Given the description of an element on the screen output the (x, y) to click on. 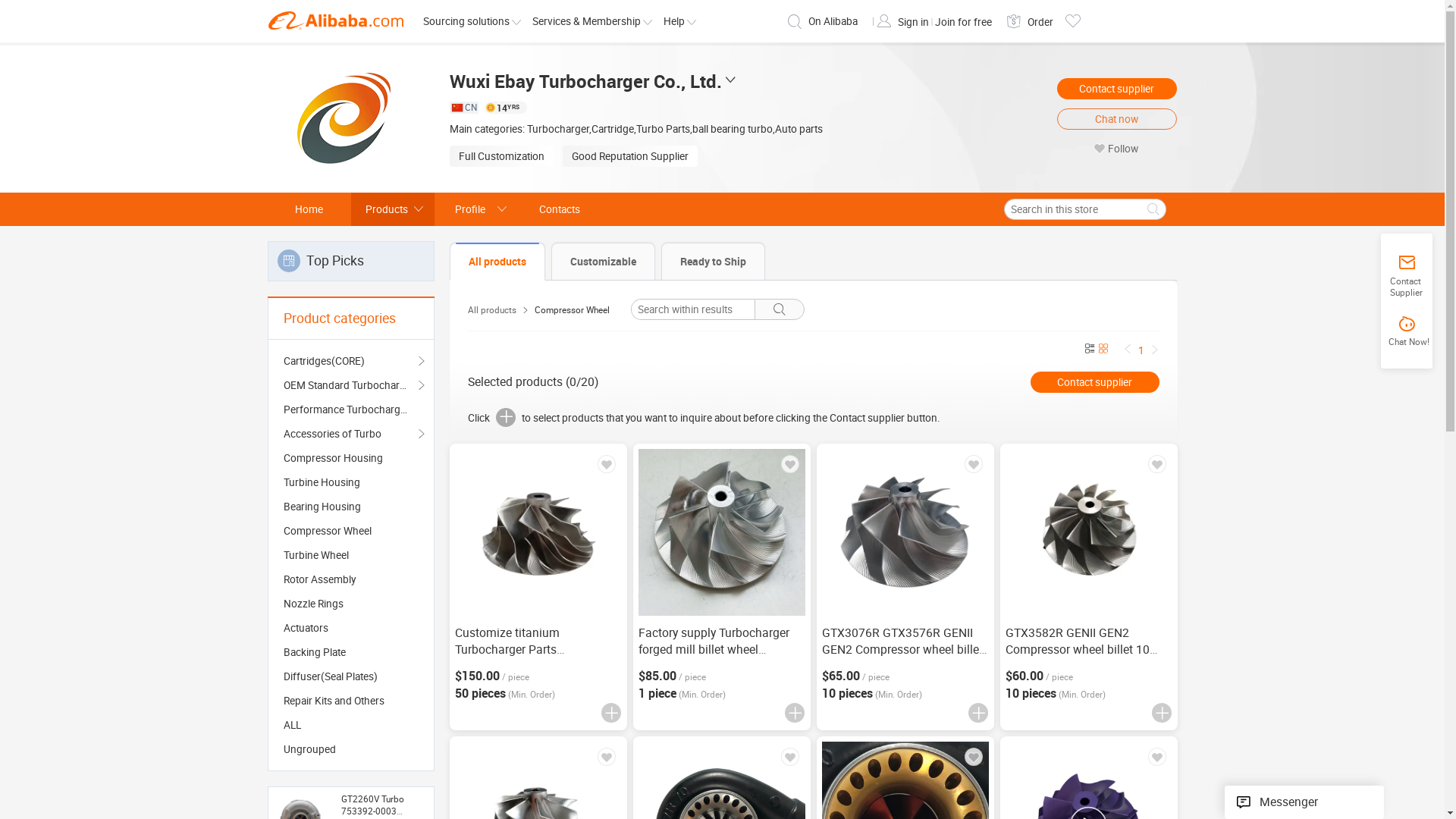
ALL Element type: text (350, 724)
Performance Turbochargers Element type: text (350, 409)
Compressor Wheel Element type: text (350, 530)
Products Element type: text (391, 208)
  Element type: text (538, 531)
Turbine Wheel Element type: text (350, 554)
Alibaba.com Element type: text (334, 20)
  Element type: text (905, 531)
Repair Kits and Others Element type: text (350, 700)
Rotor Assembly Element type: text (350, 579)
Contacts Element type: text (558, 208)
Compressor Housing Element type: text (350, 457)
Ungrouped Element type: text (350, 749)
Nozzle Rings Element type: text (350, 603)
Compressor Wheel Element type: text (570, 309)
Turbine Housing Element type: text (350, 482)
Contact supplier Element type: text (1093, 381)
Contact supplier Element type: text (1116, 88)
Backing Plate Element type: text (350, 652)
OEM Standard Turbochargers Element type: text (350, 385)
Sign in Element type: text (914, 21)
Profile Element type: text (475, 208)
All products Element type: text (491, 309)
List View Element type: hover (1088, 349)
  Element type: text (721, 531)
Actuators Element type: text (350, 627)
Accessories of Turbo Element type: text (350, 433)
Gallery View Element type: hover (1102, 349)
Join for free Element type: text (962, 21)
Chat Now! Element type: text (1406, 331)
Chat now Element type: text (1116, 118)
Diffuser(Seal Plates) Element type: text (350, 676)
  Element type: text (1088, 531)
Bearing Housing Element type: text (350, 506)
Favorites Element type: hover (1071, 21)
Home Element type: text (308, 208)
Contact Supplier Element type: text (1406, 276)
14YRS Element type: text (504, 107)
Cartridges(CORE) Element type: text (350, 360)
Top Picks Element type: text (349, 261)
Order Element type: text (1039, 21)
